Given the description of an element on the screen output the (x, y) to click on. 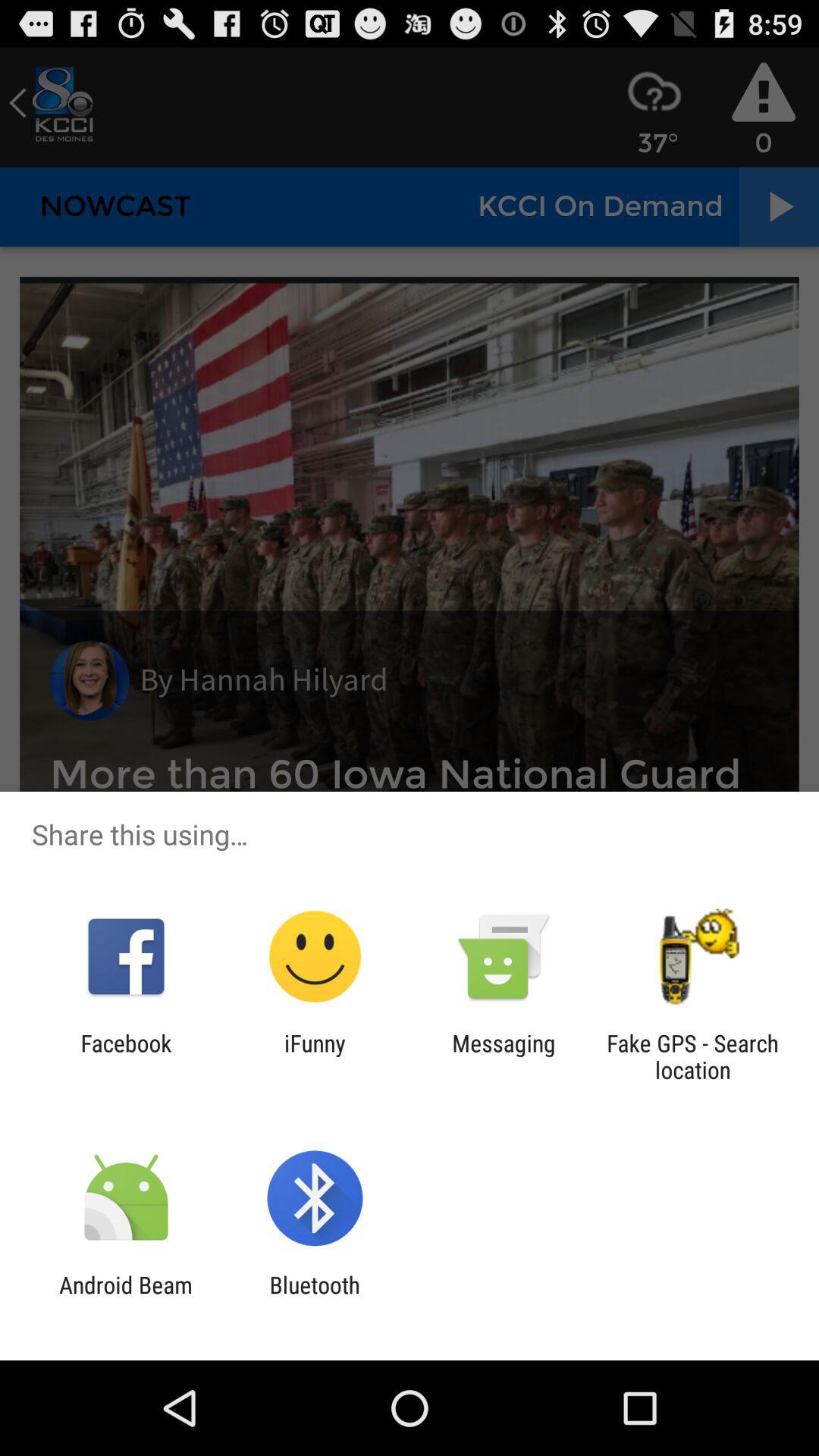
choose app to the left of the messaging (314, 1056)
